Given the description of an element on the screen output the (x, y) to click on. 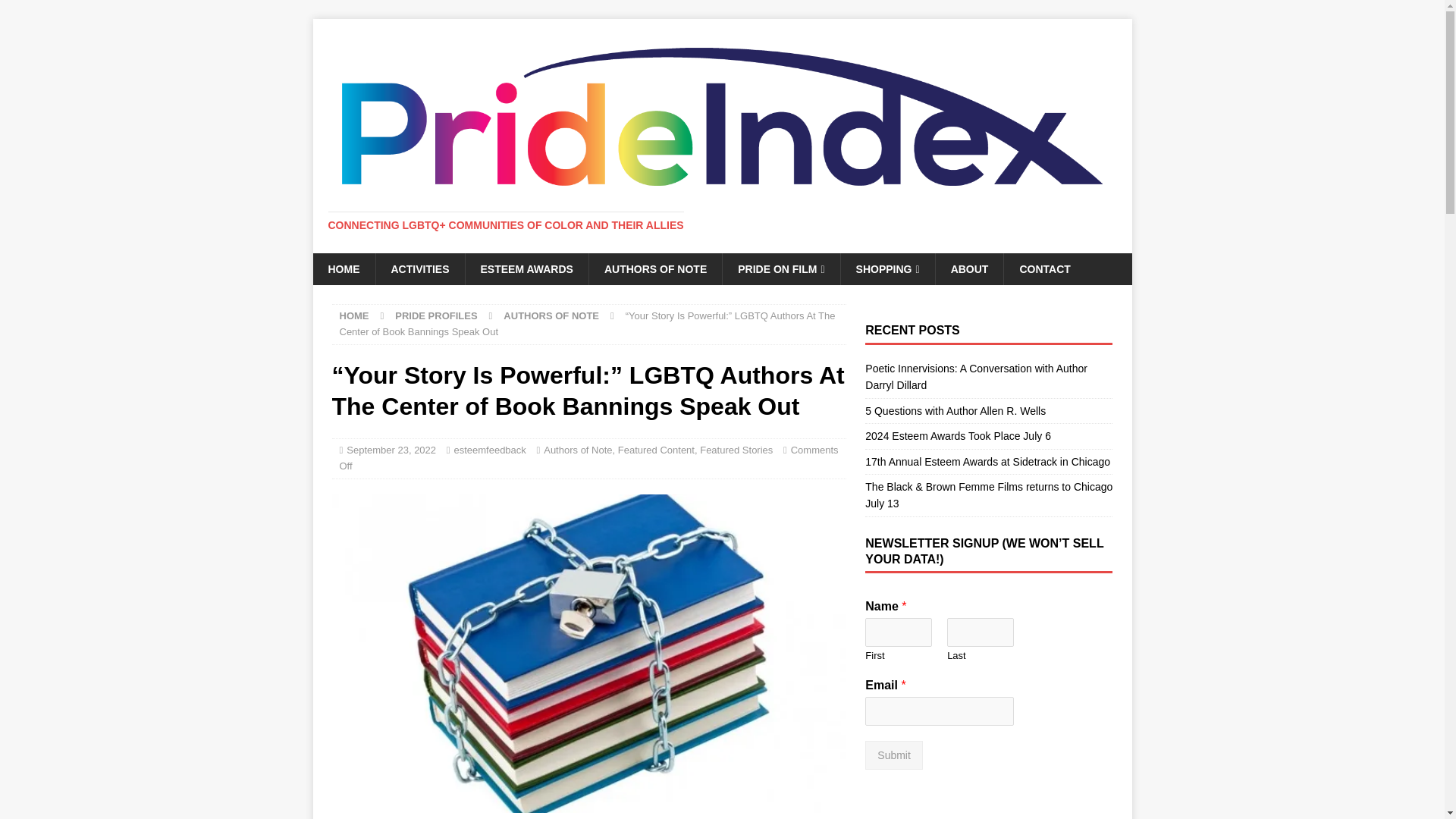
PRIDE ON FILM (781, 269)
ABOUT (969, 269)
AUTHORS OF NOTE (550, 315)
esteemfeedback (488, 449)
CONTACT (1043, 269)
ACTIVITIES (419, 269)
Featured Stories (736, 449)
Authors of Note (577, 449)
AUTHORS OF NOTE (655, 269)
SHOPPING (887, 269)
September 23, 2022 (390, 449)
Featured Content (655, 449)
HOME (343, 269)
